Given the description of an element on the screen output the (x, y) to click on. 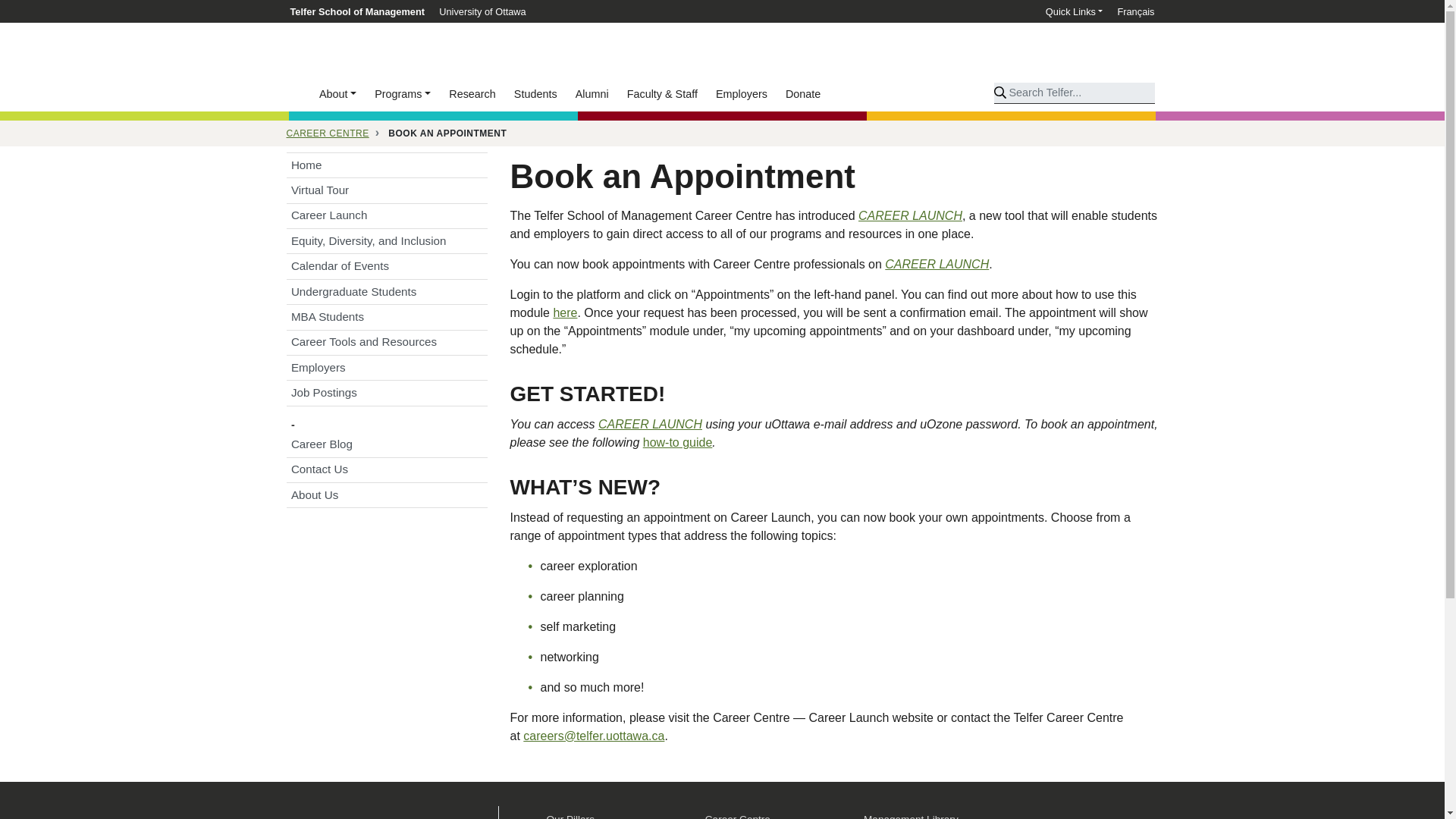
Telfer School of Management (359, 11)
University of Ottawa (478, 11)
About (337, 93)
Quick Links (1077, 11)
Career Centre Home (386, 165)
